Given the description of an element on the screen output the (x, y) to click on. 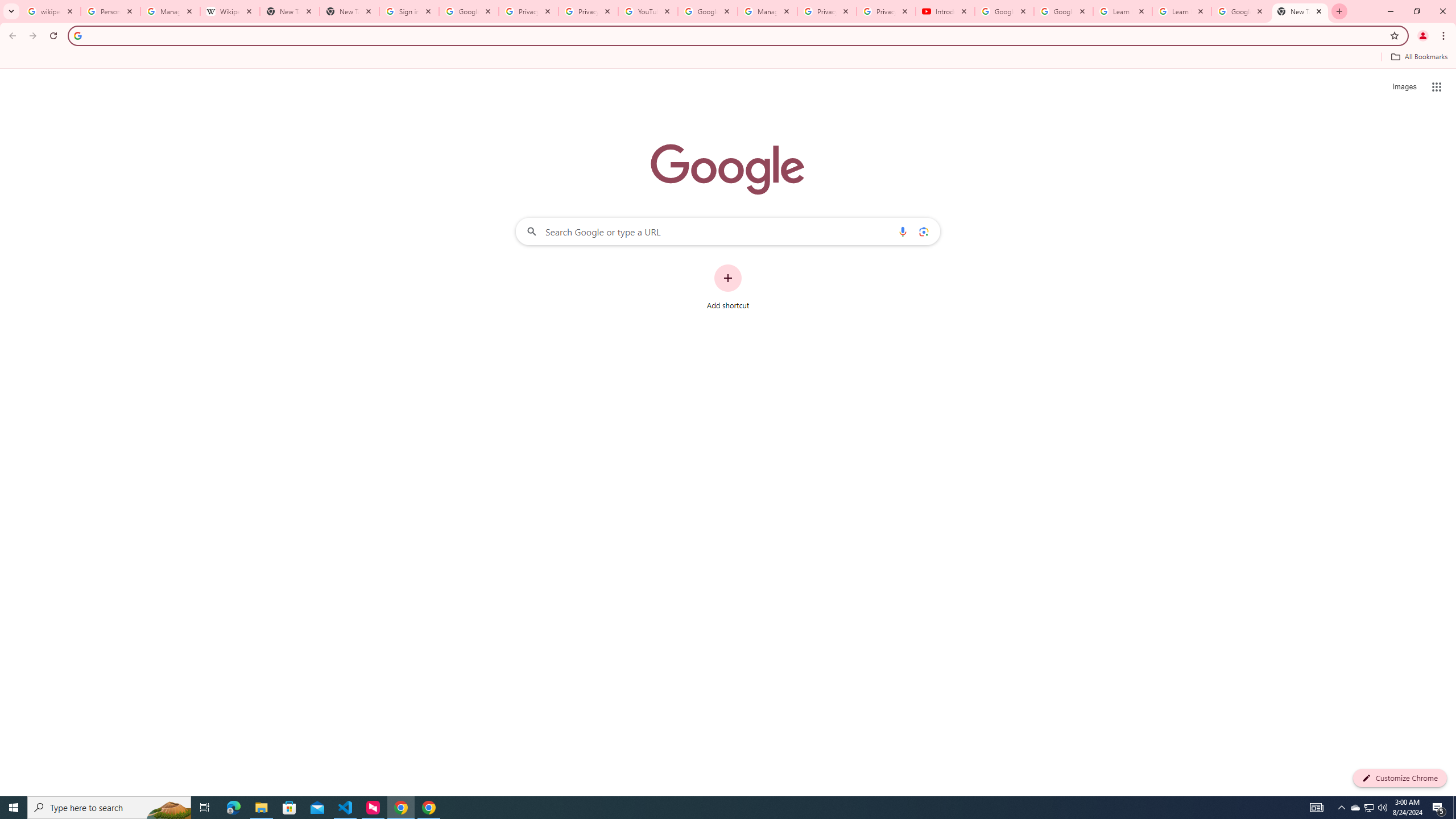
Sign in - Google Accounts (409, 11)
Customize Chrome (1399, 778)
Introduction | Google Privacy Policy - YouTube (944, 11)
Google Account Help (1004, 11)
Google Account (1241, 11)
YouTube (647, 11)
Google Drive: Sign-in (468, 11)
